Given the description of an element on the screen output the (x, y) to click on. 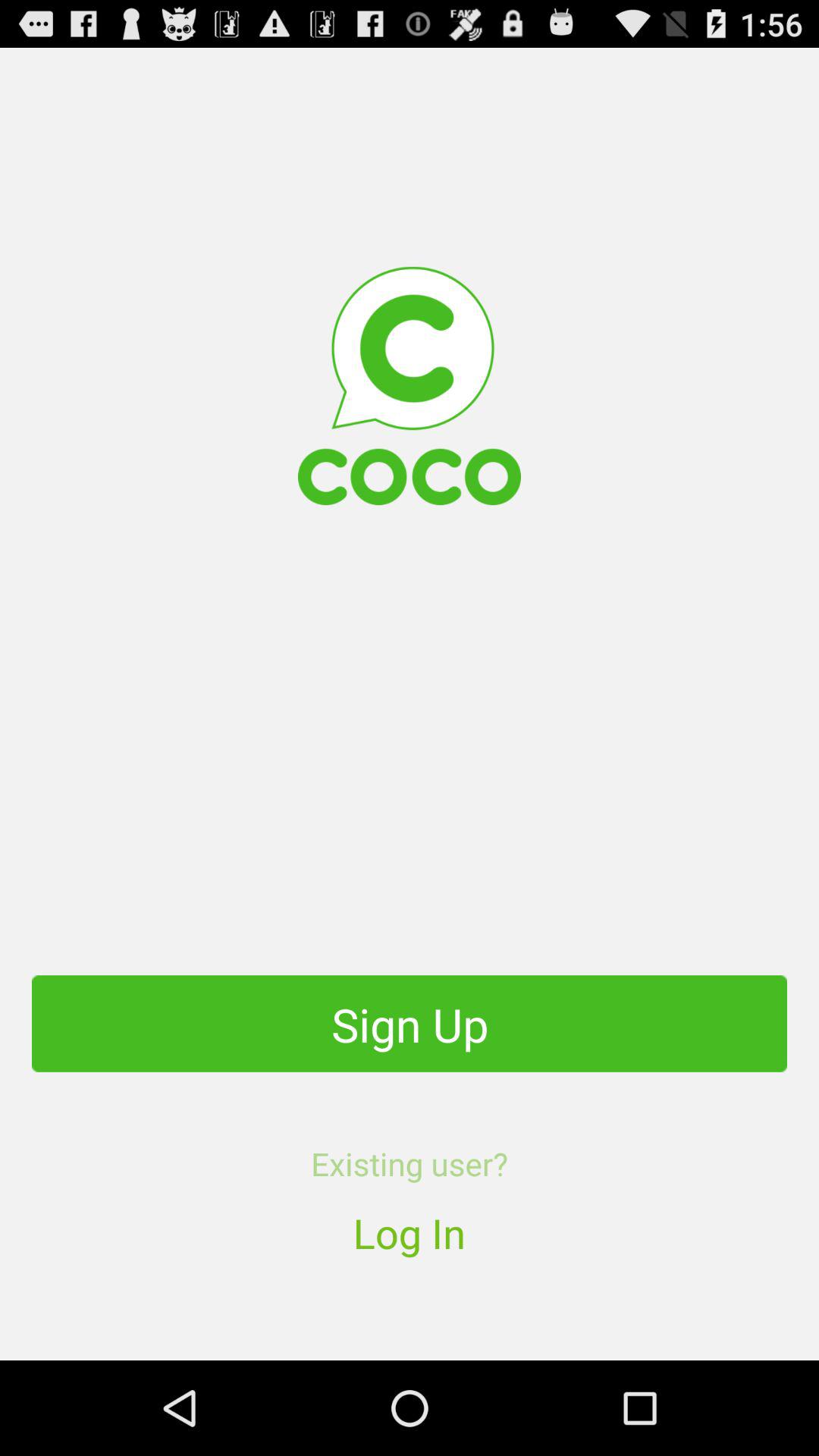
select the sign up item (409, 1023)
